Given the description of an element on the screen output the (x, y) to click on. 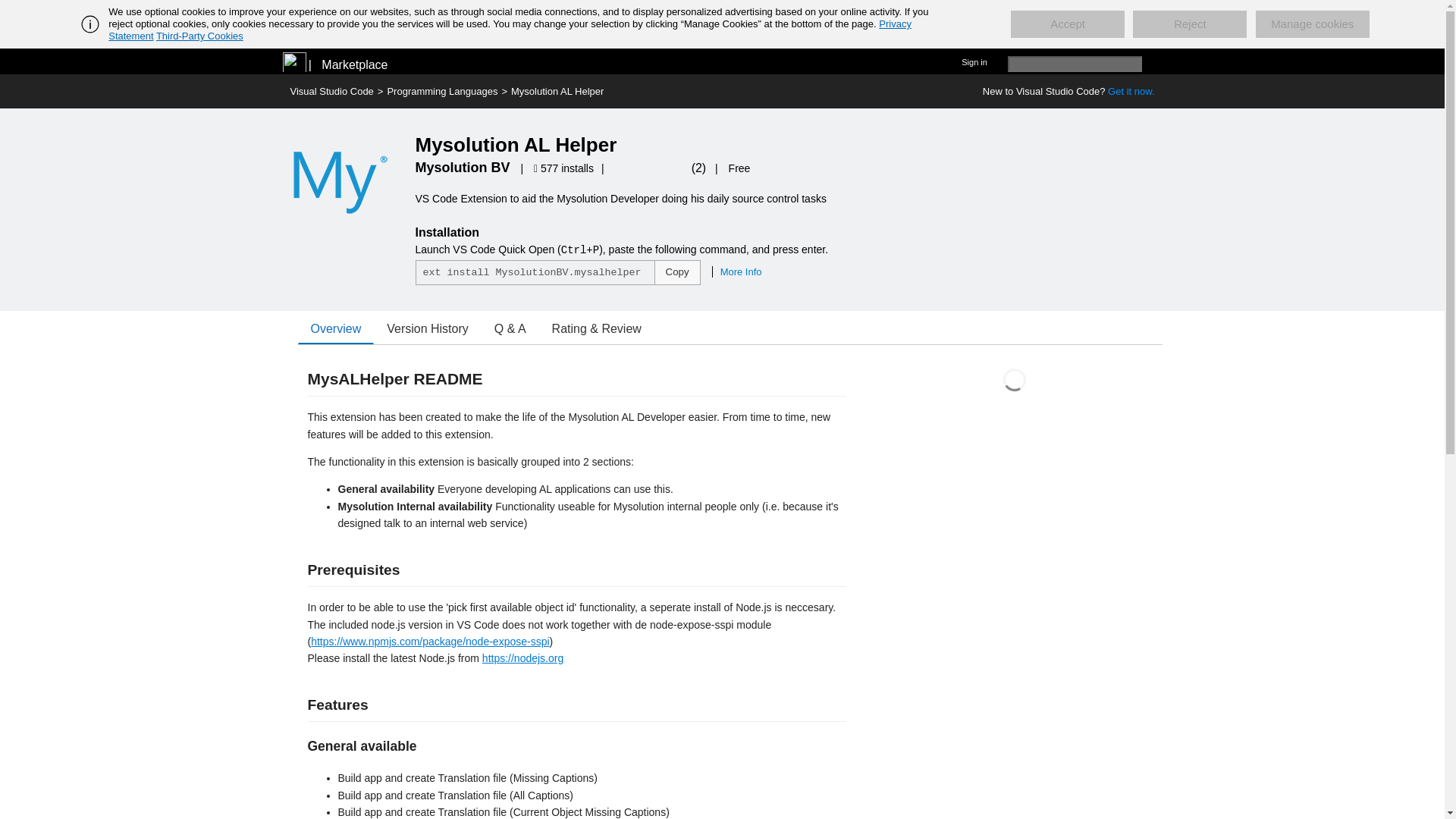
The number of unique installations, not including updates. (565, 168)
Programming Languages (442, 91)
Third-Party Cookies (199, 35)
More Info (736, 271)
Accept (1067, 23)
Get it now. (1131, 91)
Privacy Statement (509, 29)
Copy (676, 272)
Sign in (973, 61)
Mysolution BV (462, 167)
Copy to clipboard (676, 272)
Manage cookies (1312, 23)
Version History (427, 328)
Visual Studio Code (330, 91)
Average rating: 5 out of 5 (656, 168)
